Given the description of an element on the screen output the (x, y) to click on. 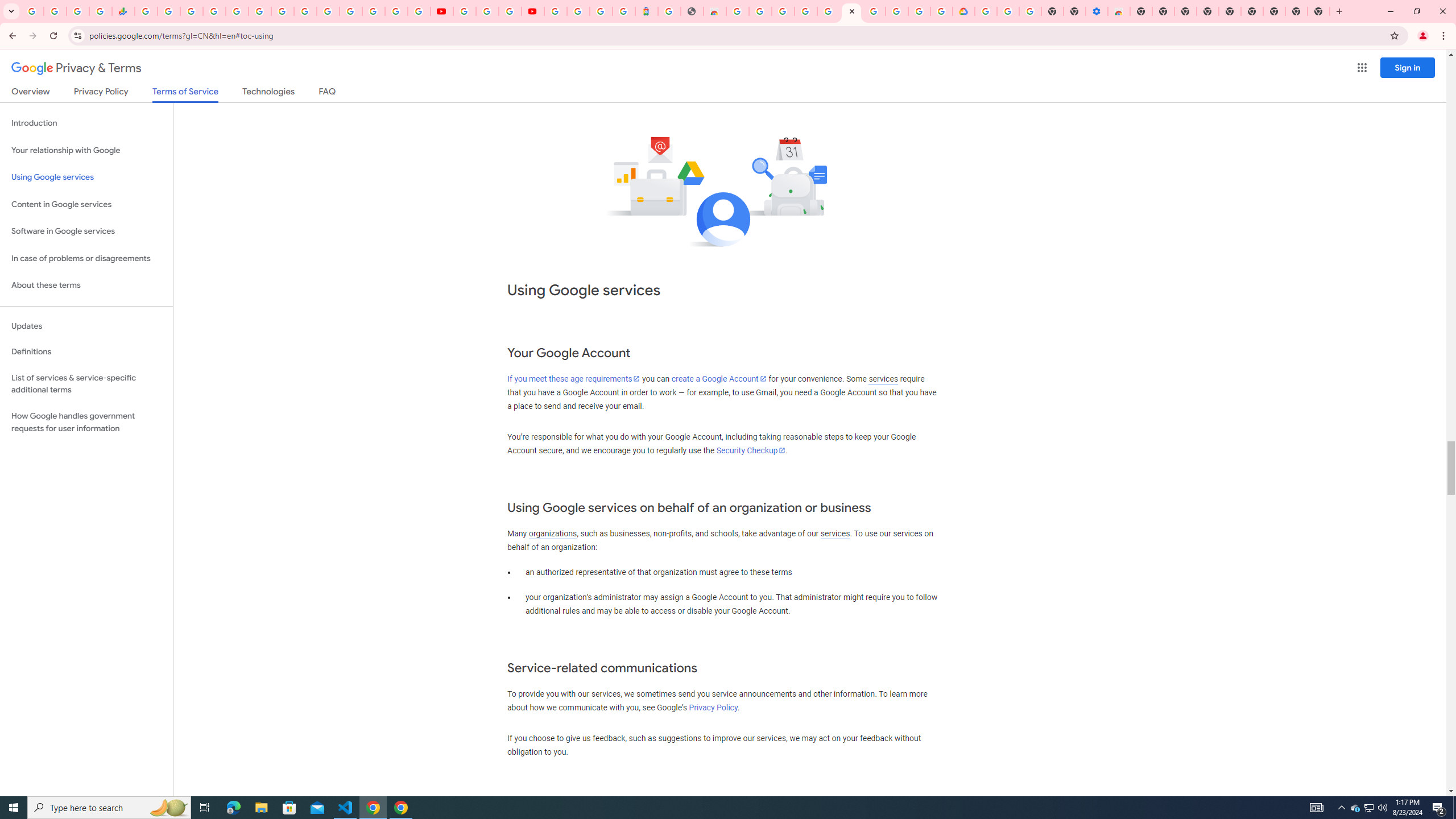
In case of problems or disagreements (86, 258)
YouTube (441, 11)
Sign in - Google Accounts (828, 11)
Software in Google services (86, 230)
Sign in - Google Accounts (214, 11)
